Given the description of an element on the screen output the (x, y) to click on. 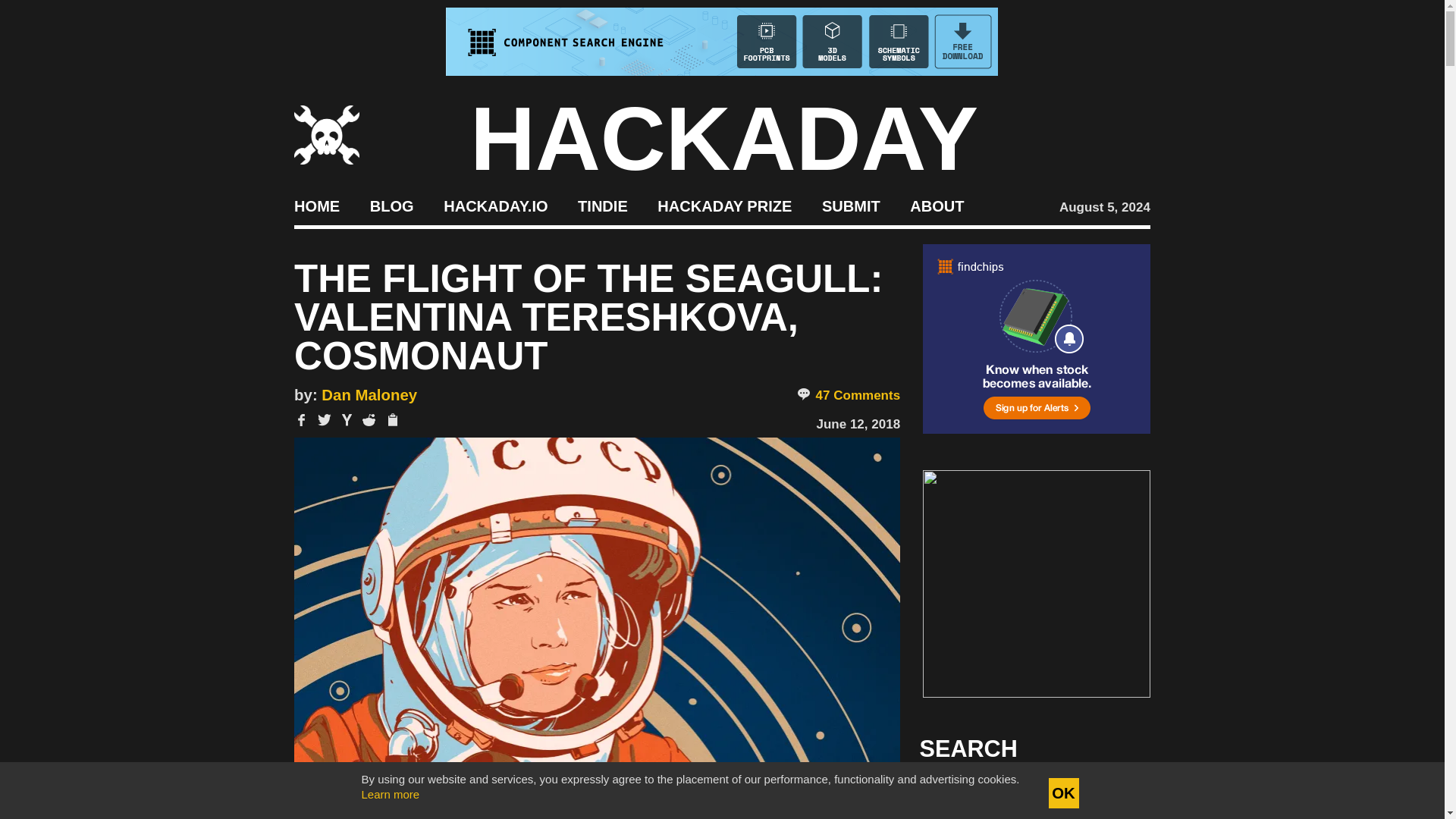
June 12, 2018 - 10:01 am (858, 423)
ABOUT (936, 205)
Share on Hacker News (347, 420)
SUBMIT (851, 205)
Share on Reddit (369, 420)
HACKADAY (724, 138)
Dan Maloney (368, 394)
BLOG (391, 205)
Search (1115, 792)
Share on Twitter (324, 420)
HOME (316, 205)
HACKADAY.IO (495, 205)
Search (1115, 792)
HACKADAY PRIZE (725, 205)
TINDIE (602, 205)
